Given the description of an element on the screen output the (x, y) to click on. 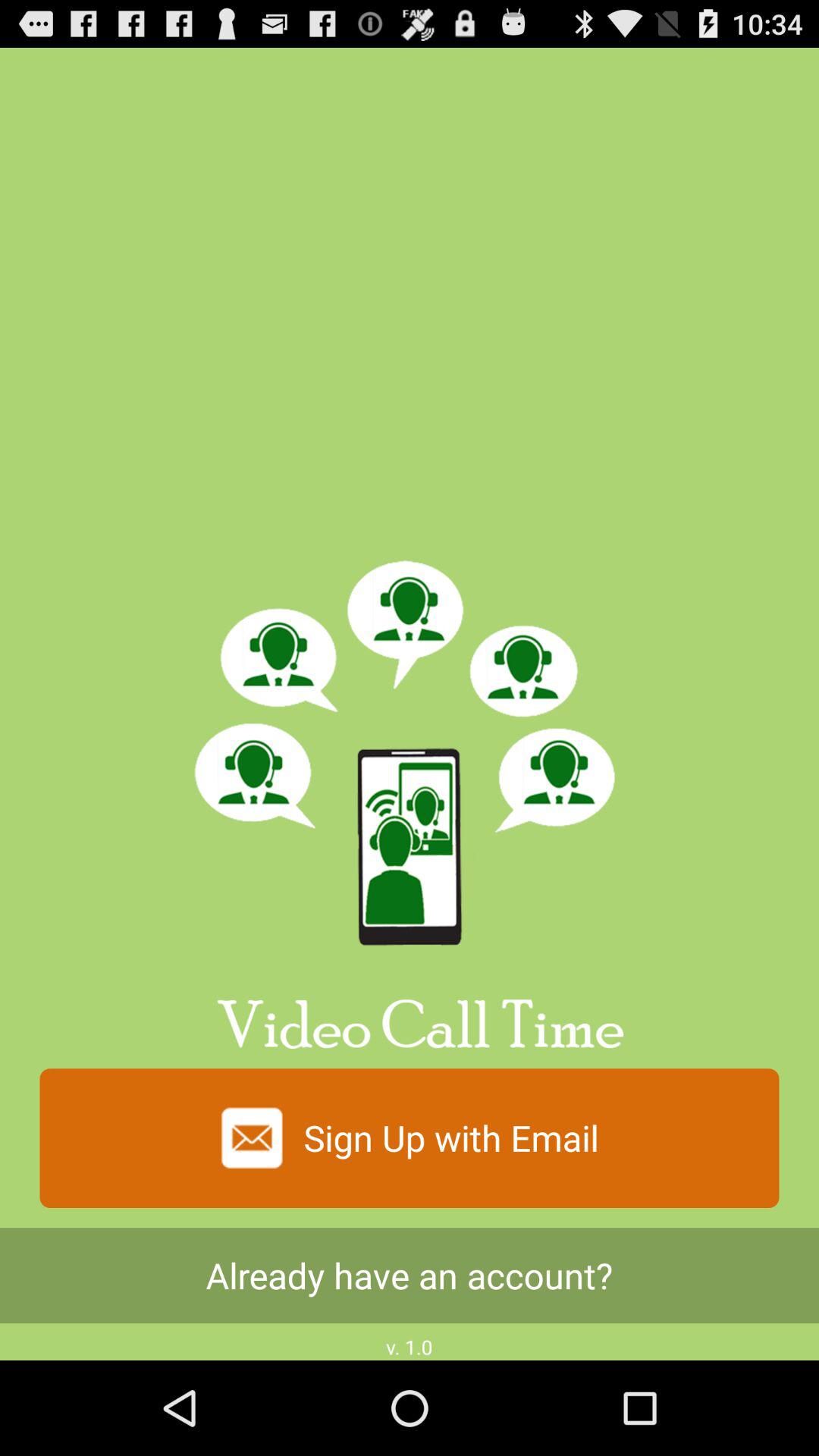
tap icon above v. 1.0 (409, 1275)
